Given the description of an element on the screen output the (x, y) to click on. 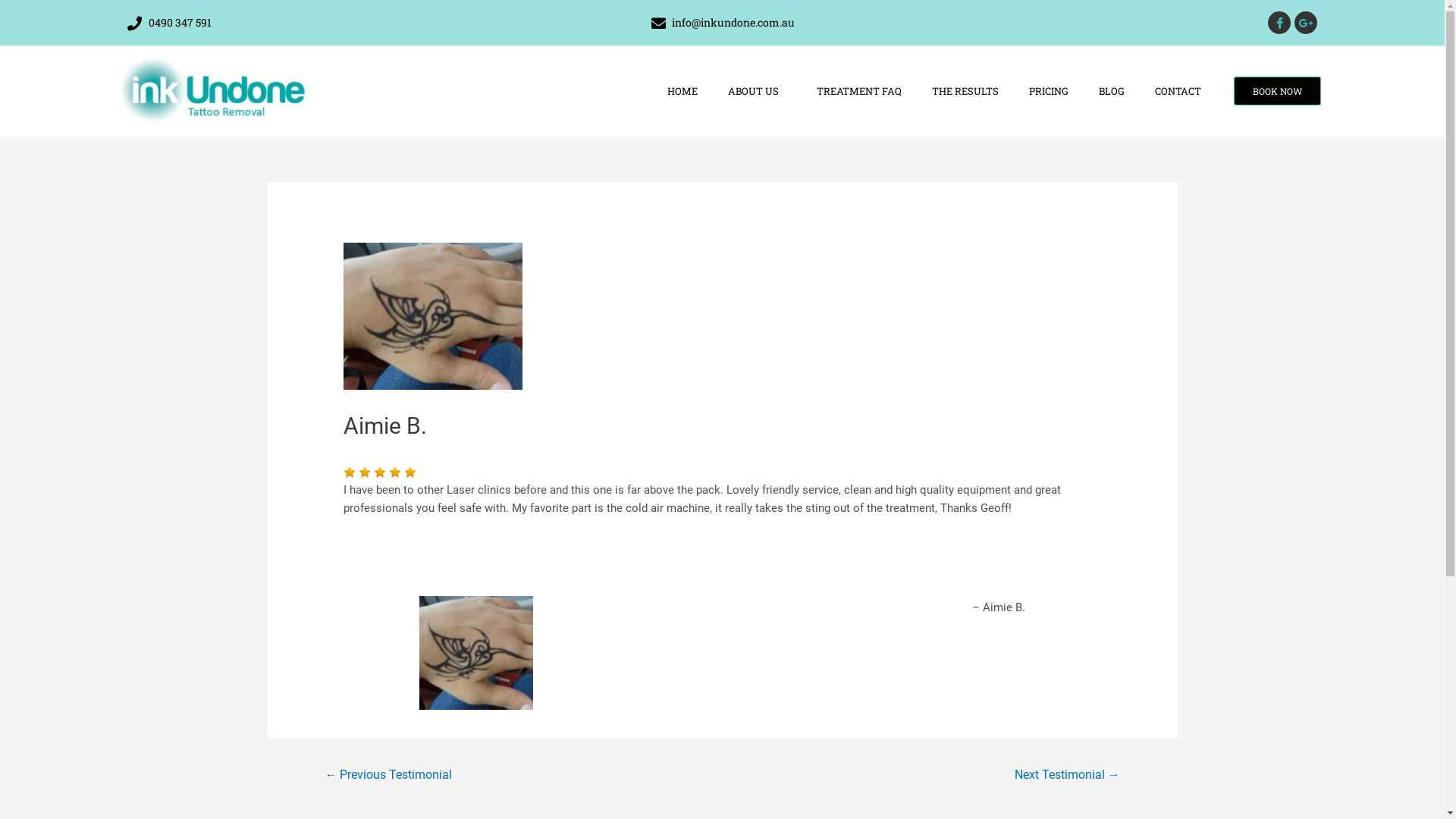
gorgeous Element type: hover (410, 472)
TREATMENT FAQ Element type: text (859, 90)
gorgeous Element type: hover (381, 471)
gorgeous Element type: hover (395, 472)
gorgeous Element type: hover (364, 472)
gorgeous Element type: hover (379, 472)
info@inkundone.com.au Element type: text (722, 22)
gorgeous Element type: hover (349, 472)
PRICING Element type: text (1048, 90)
THE RESULTS Element type: text (965, 90)
CONTACT Element type: text (1177, 90)
BLOG Element type: text (1111, 90)
ABOUT US Element type: text (756, 90)
HOME Element type: text (682, 90)
BOOK NOW Element type: text (1277, 90)
0490 347 591 Element type: text (323, 22)
